Given the description of an element on the screen output the (x, y) to click on. 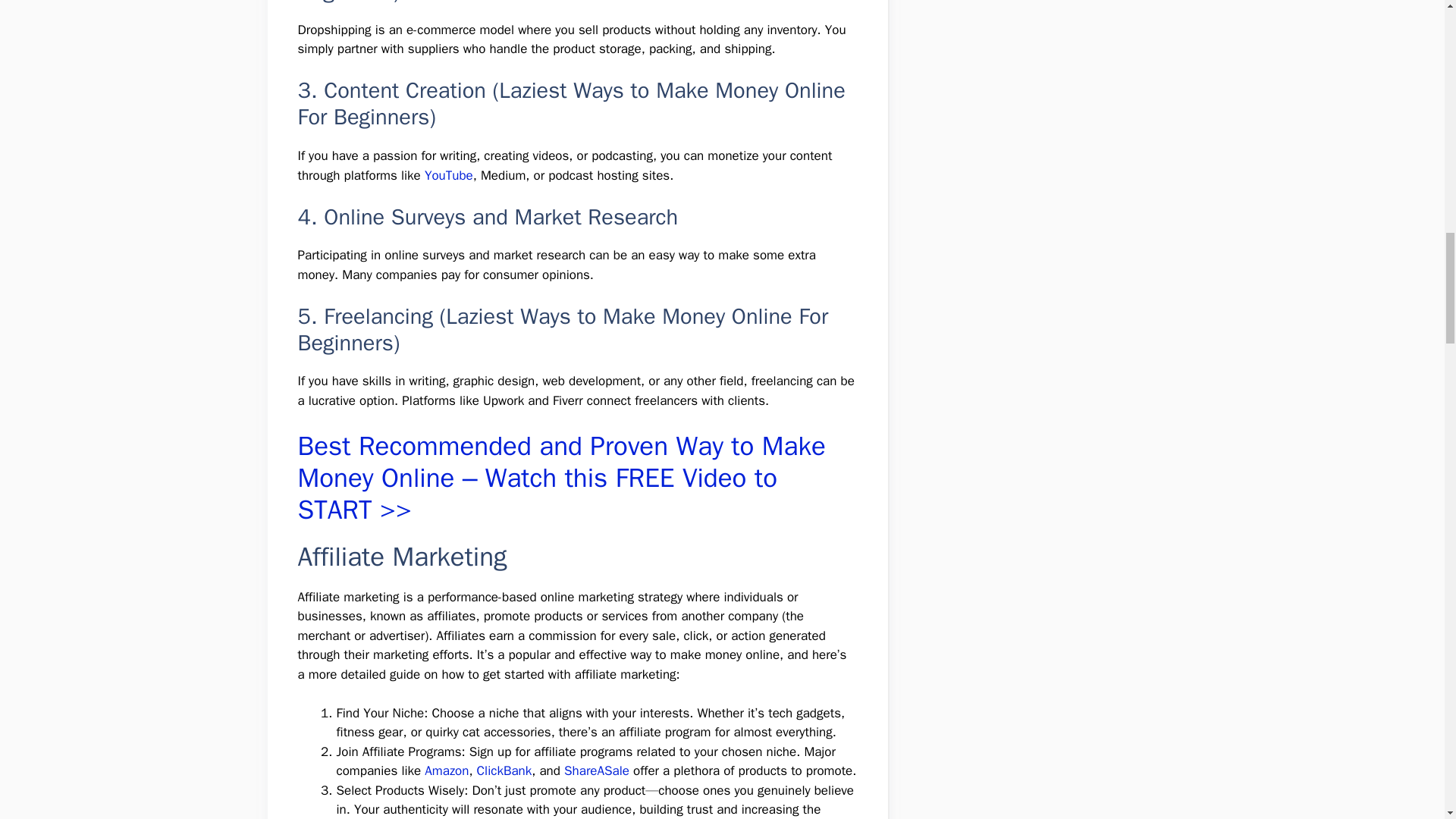
ClickBank (504, 770)
ShareASale (596, 770)
YouTube (449, 175)
Amazon (446, 770)
